Given the description of an element on the screen output the (x, y) to click on. 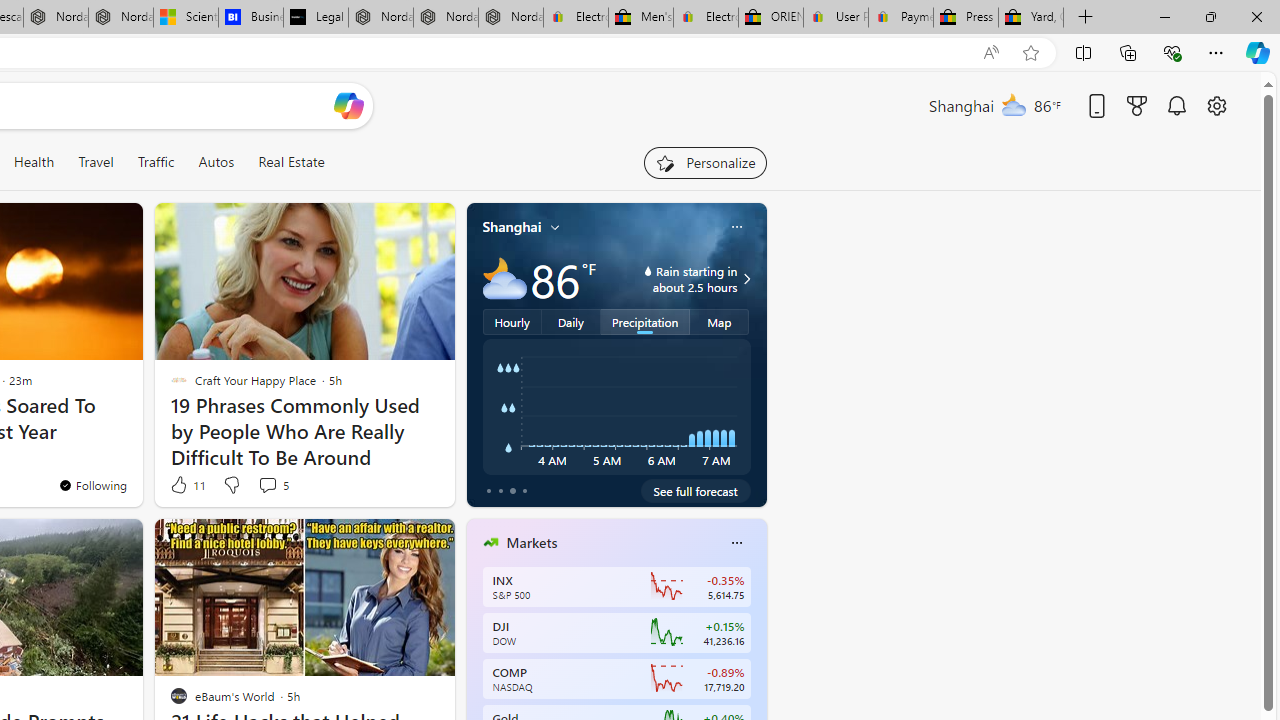
Traffic (155, 162)
Shanghai (511, 227)
View comments 5 Comment (267, 485)
Daily (571, 321)
Open settings (1216, 105)
View comments 5 Comment (272, 484)
Class: weather-arrow-glyph (746, 278)
Mostly cloudy (504, 278)
